Given the description of an element on the screen output the (x, y) to click on. 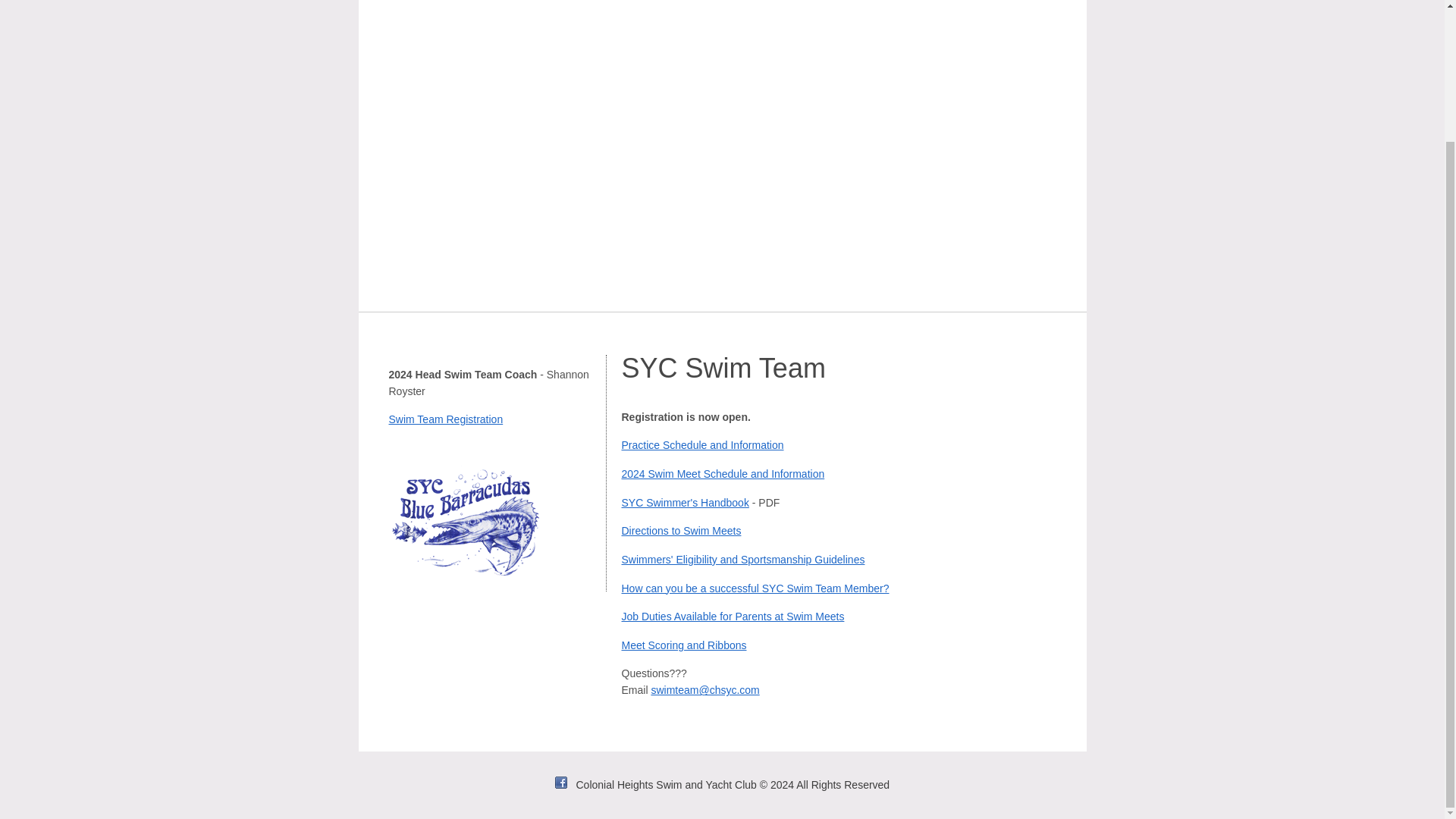
Meet Scoring and Ribbons (683, 645)
SYC Swimmer's Handbook (685, 502)
Swimmers' Eligibility and Sportsmanship Guidelines (742, 559)
Practice Schedule and Information (702, 444)
How can you be a successful SYC Swim Team Member? (755, 588)
Directions to Swim Meets (681, 530)
2024 Swim Meet Schedule and Information (723, 473)
Swim Team Registration (445, 419)
Job Duties Available for Parents at Swim Meets (732, 616)
